Given the description of an element on the screen output the (x, y) to click on. 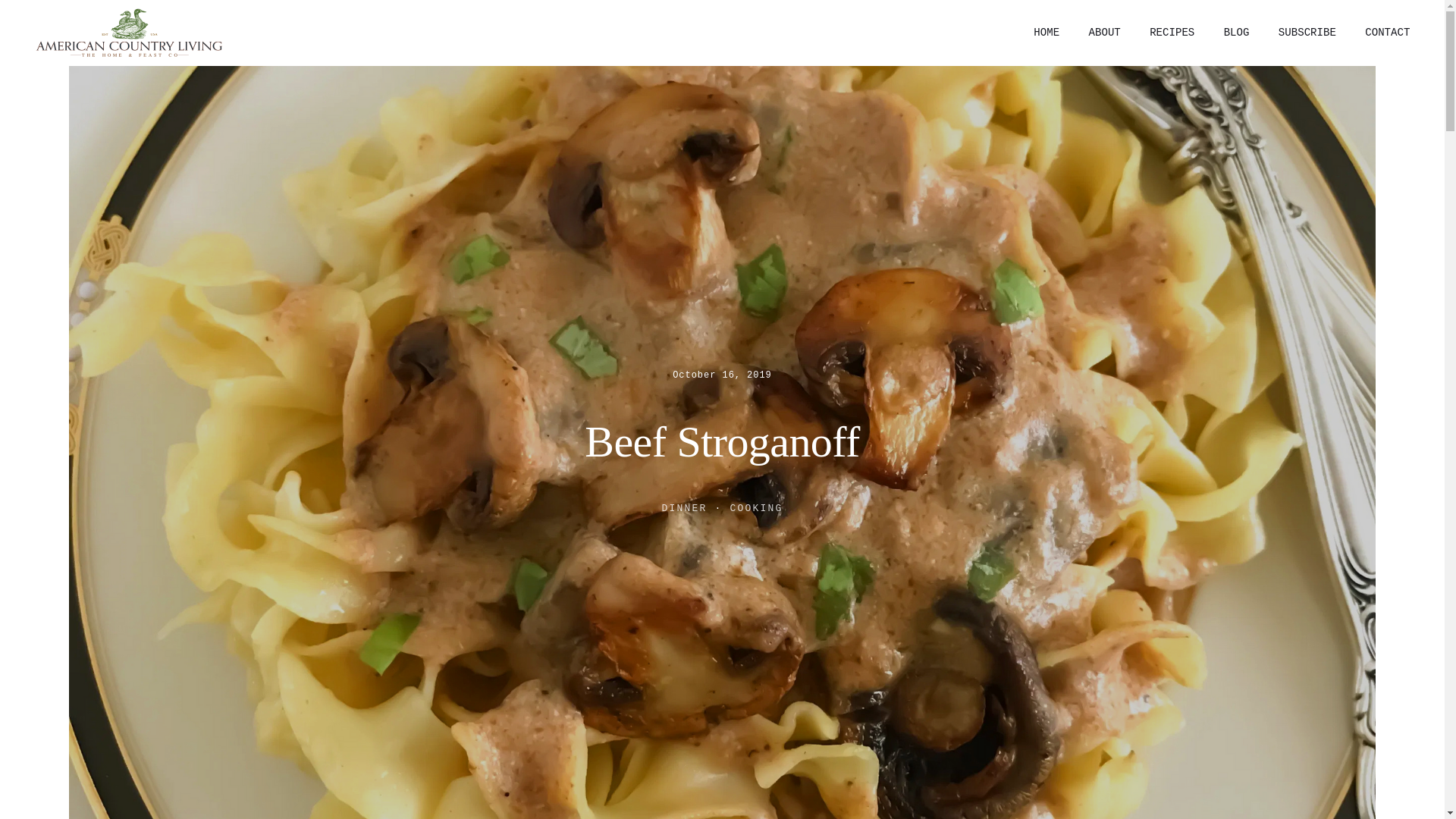
BLOG (1235, 32)
RECIPES (1172, 32)
ABOUT (1104, 32)
CONTACT (1388, 32)
SUBSCRIBE (1307, 32)
HOME (1046, 32)
